Given the description of an element on the screen output the (x, y) to click on. 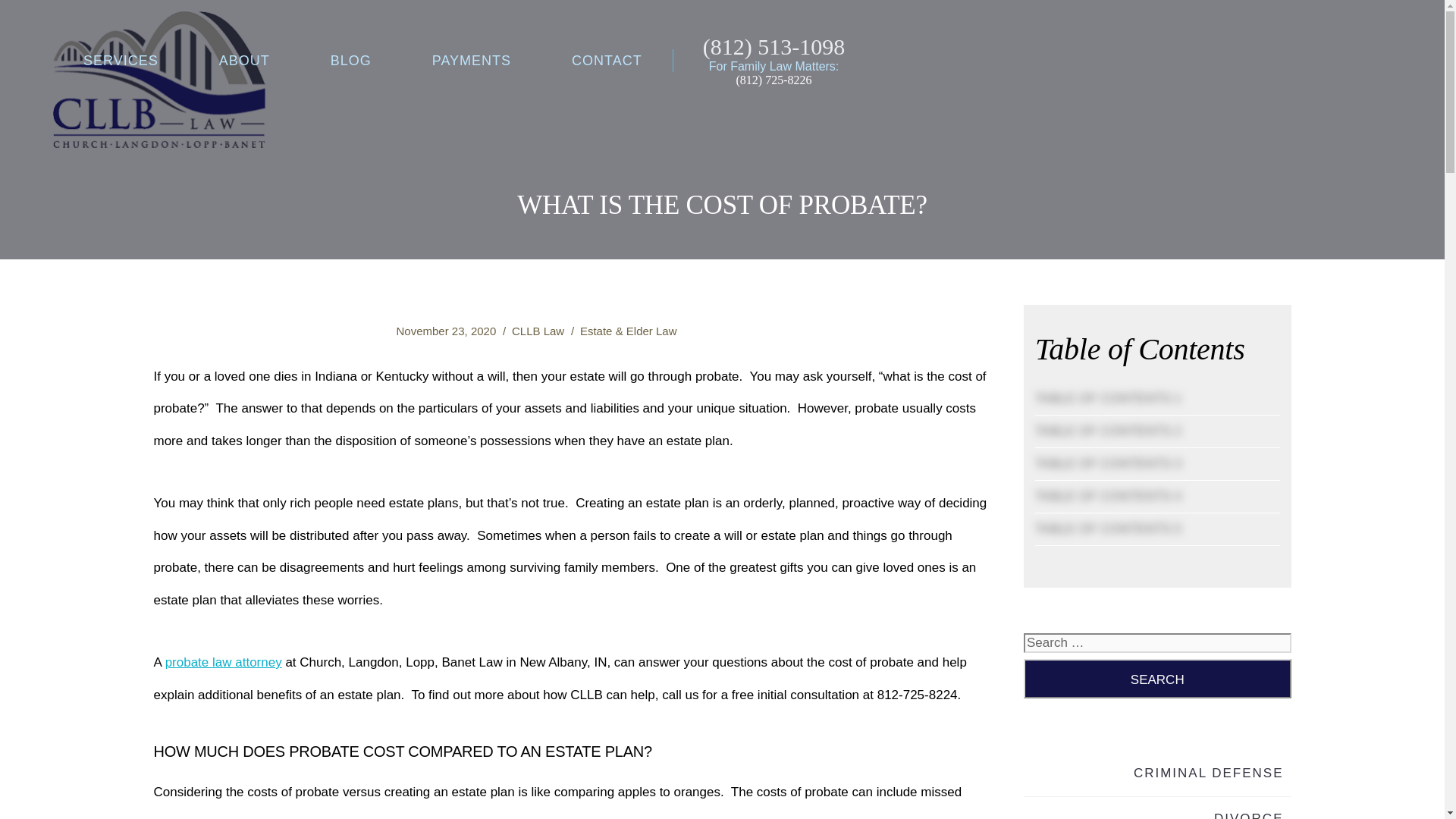
BLOG (350, 60)
PAYMENTS (471, 60)
DIVORCE (1248, 815)
Search (1157, 678)
probate law attorney (223, 662)
TABLE OF CONTENTS 4 (1107, 495)
Primary (628, 330)
TABLE OF CONTENTS 2 (1107, 431)
Search (1157, 678)
Search (1157, 678)
